Given the description of an element on the screen output the (x, y) to click on. 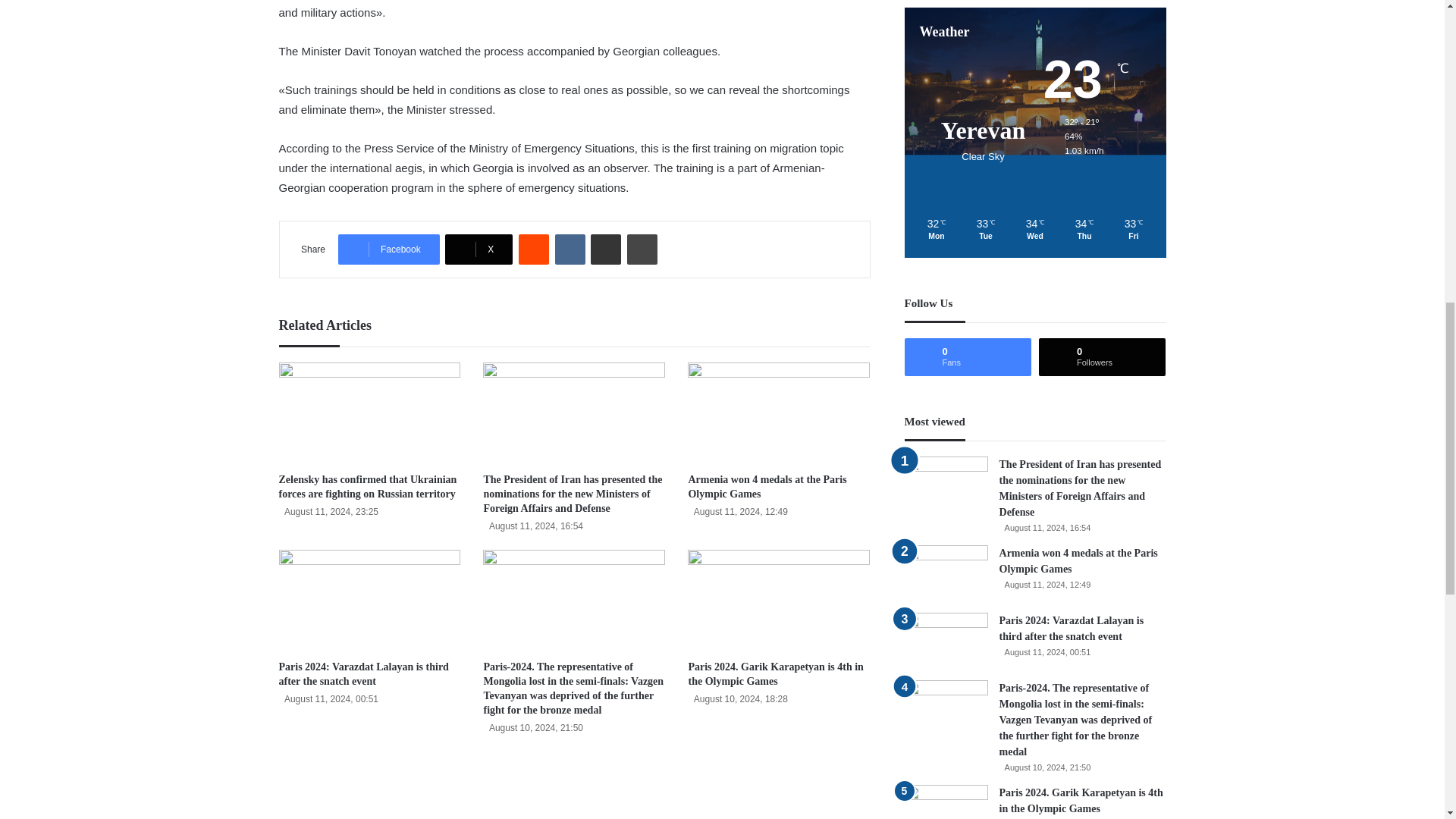
X (478, 249)
Reddit (533, 249)
Share via Email (606, 249)
VKontakte (569, 249)
Facebook (388, 249)
Print (642, 249)
